Given the description of an element on the screen output the (x, y) to click on. 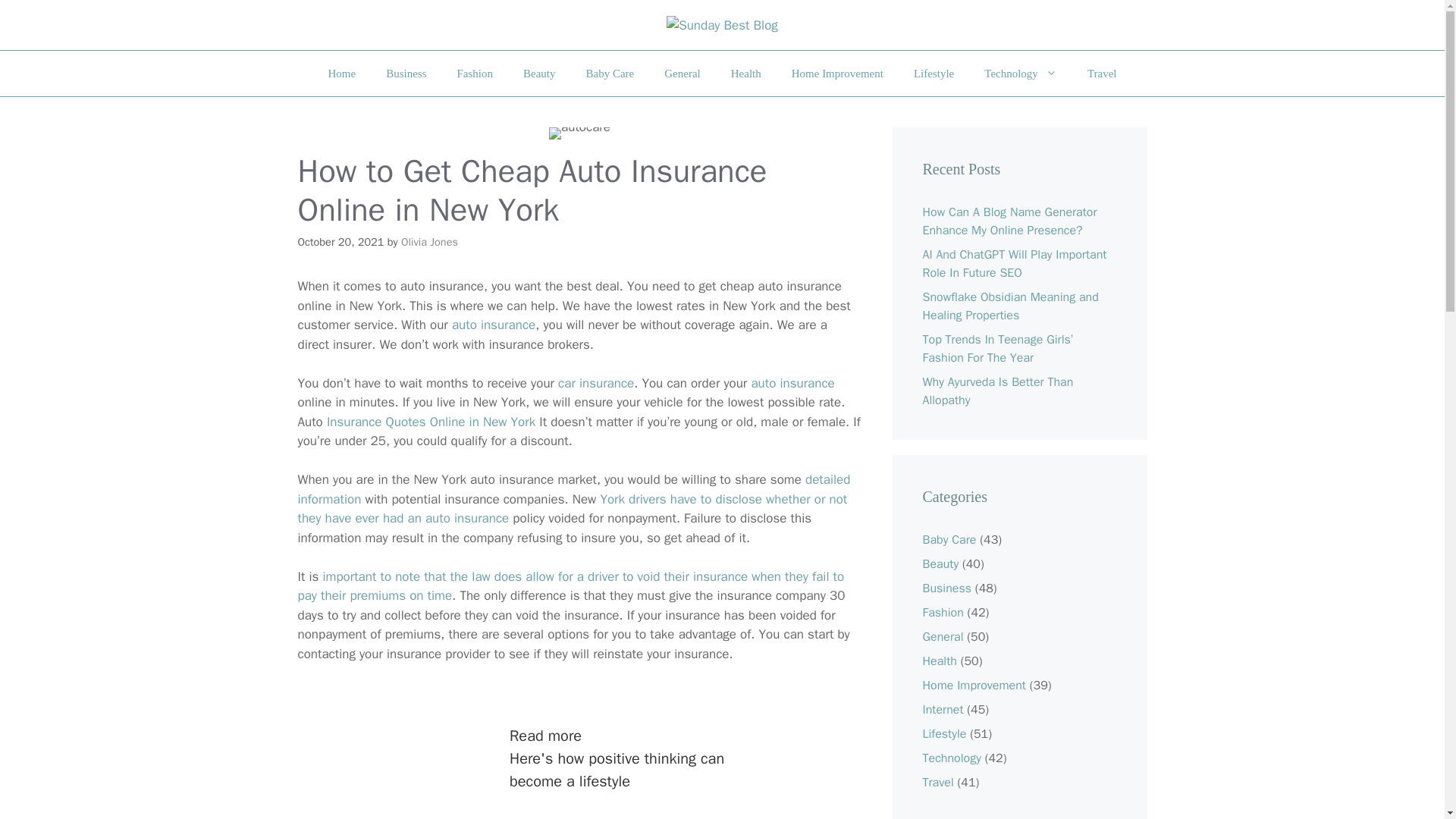
auto insurance (792, 383)
auto insurance (493, 324)
Home Improvement (837, 73)
Business (406, 73)
Beauty (539, 73)
Olivia Jones (429, 241)
Insurance Quotes Online in New York (430, 421)
